Given the description of an element on the screen output the (x, y) to click on. 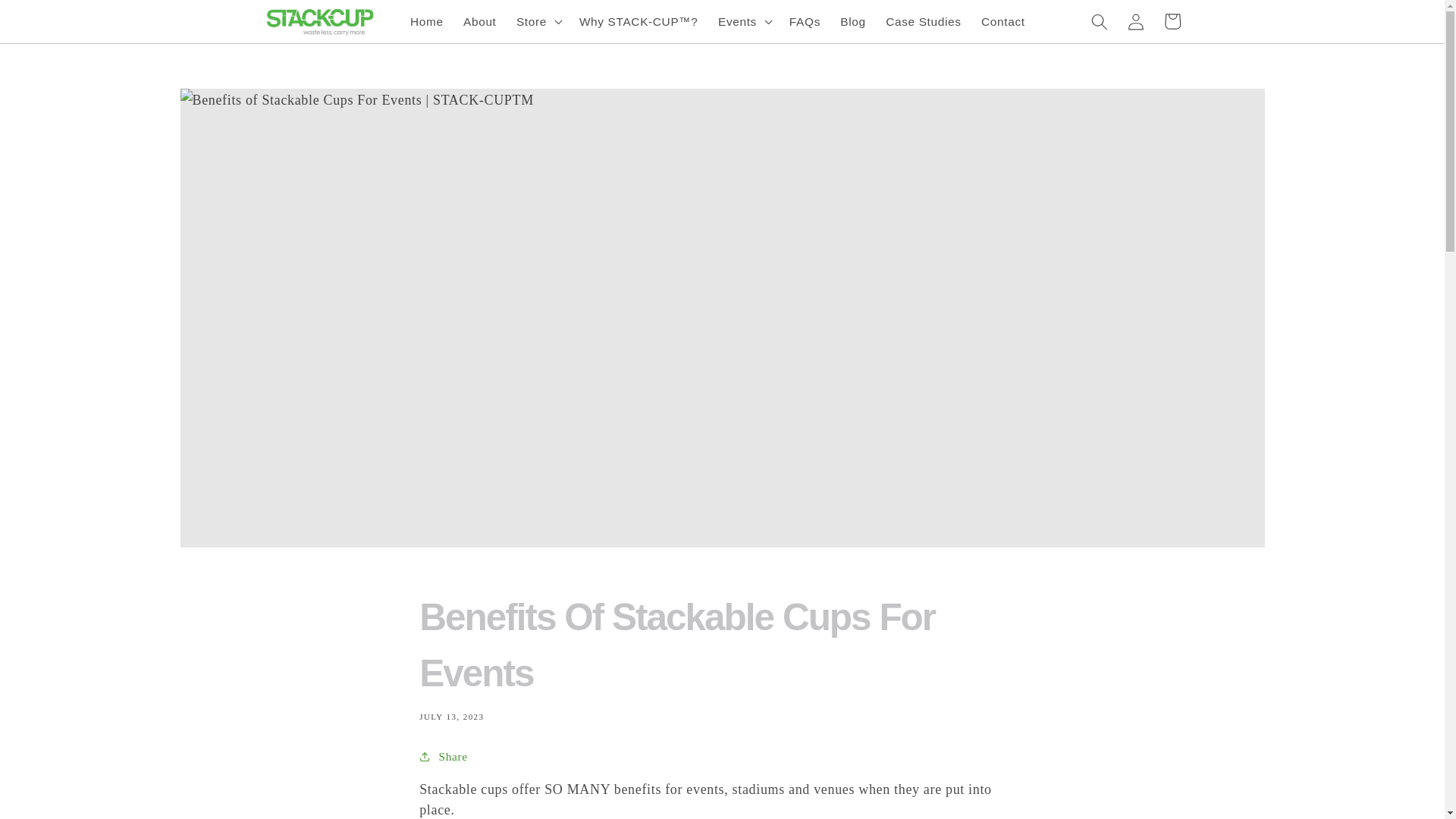
FAQs (804, 21)
Home (426, 21)
Skip to content (50, 19)
About (479, 21)
